Given the description of an element on the screen output the (x, y) to click on. 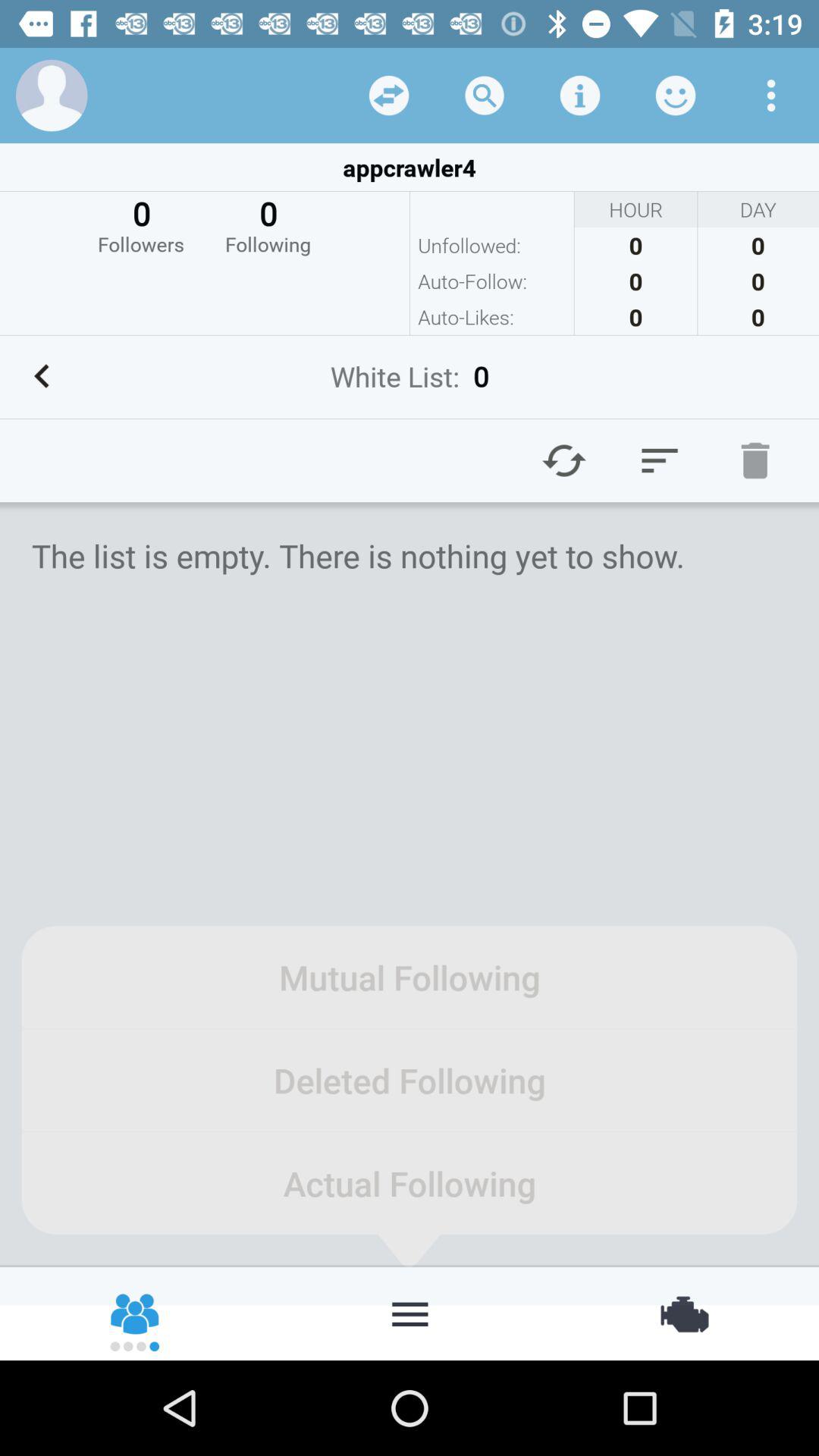
go to back (388, 95)
